Given the description of an element on the screen output the (x, y) to click on. 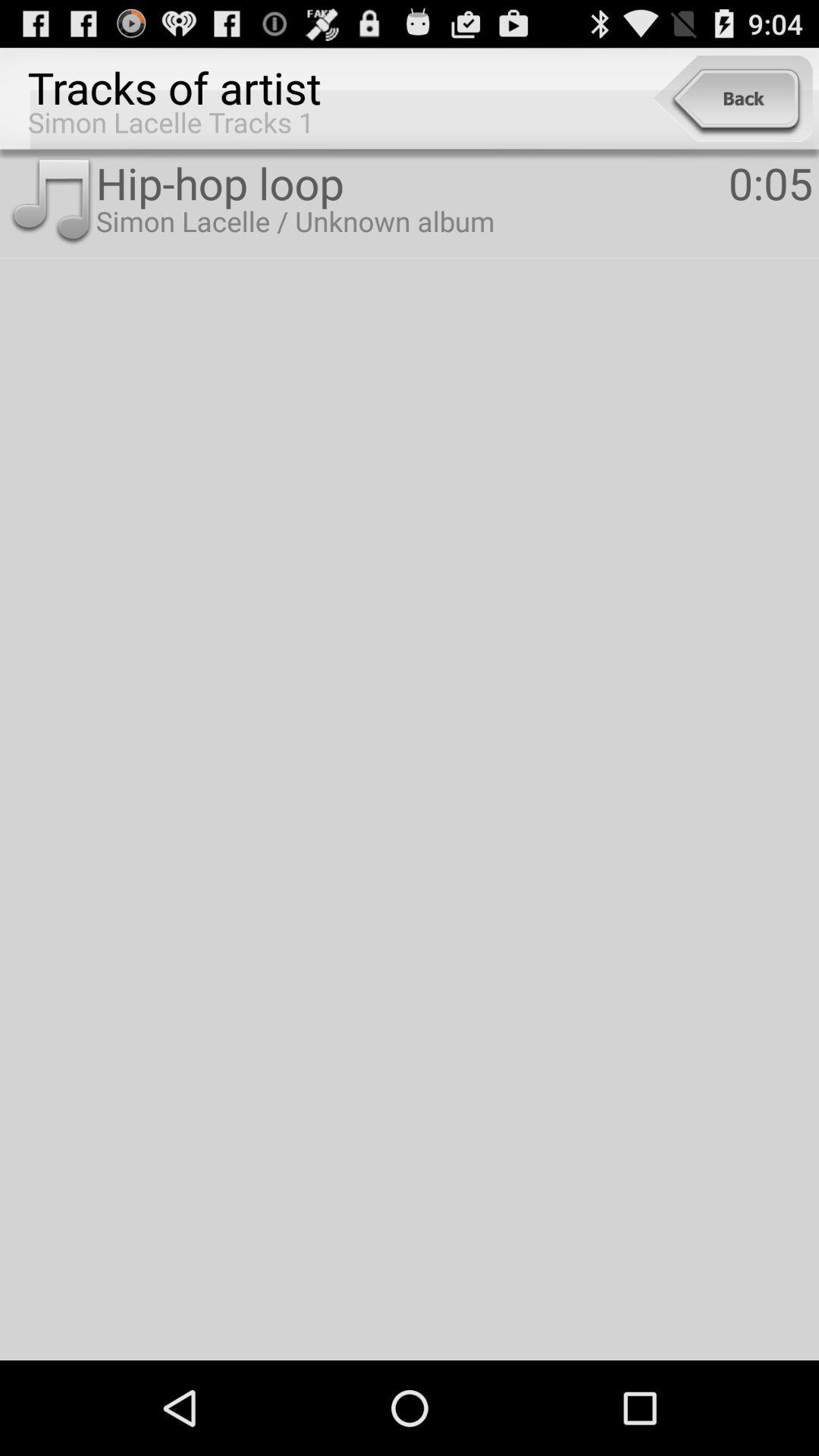
press the item next to 0:05 item (412, 182)
